Given the description of an element on the screen output the (x, y) to click on. 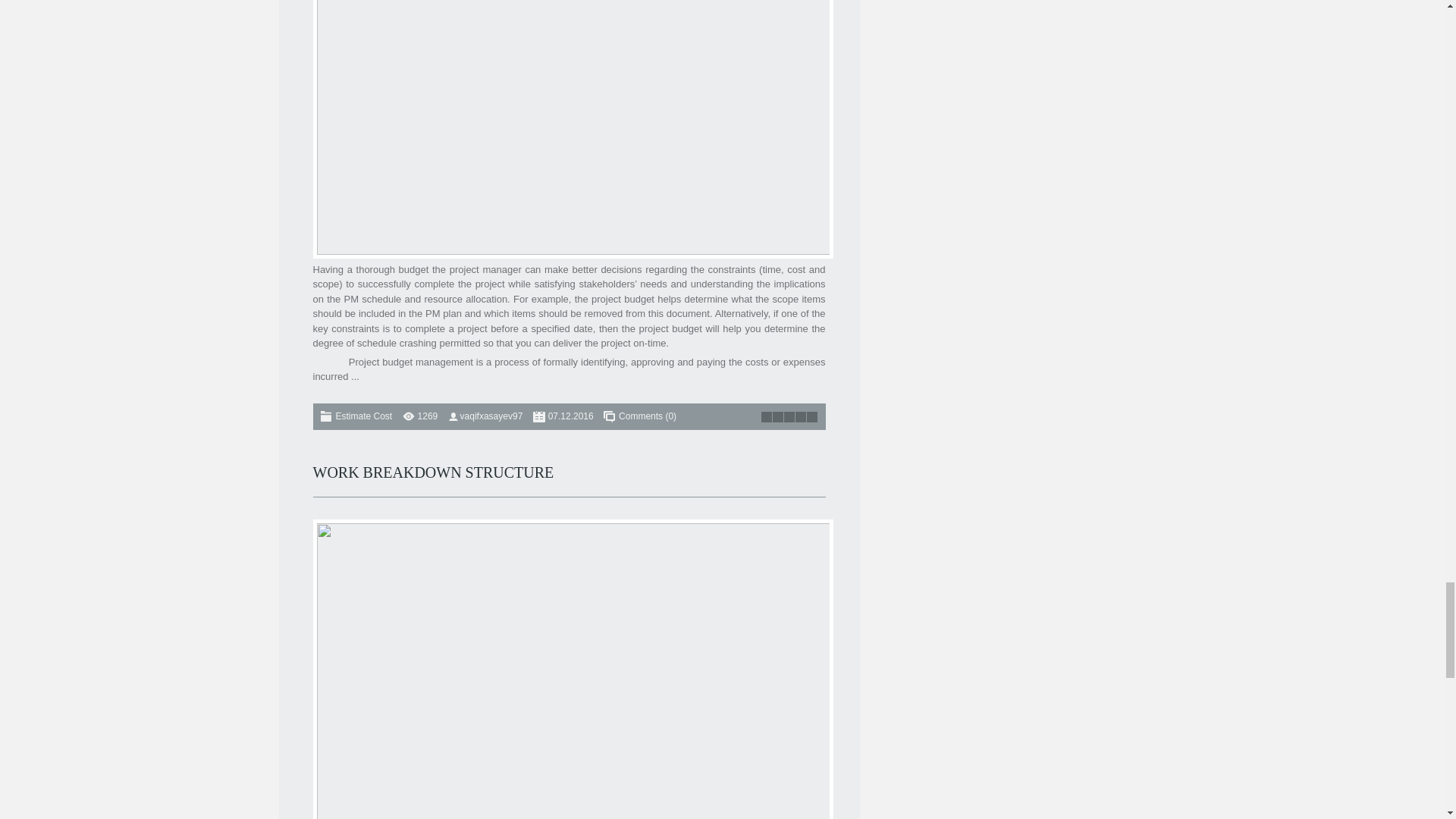
23:48 (571, 416)
